Given the description of an element on the screen output the (x, y) to click on. 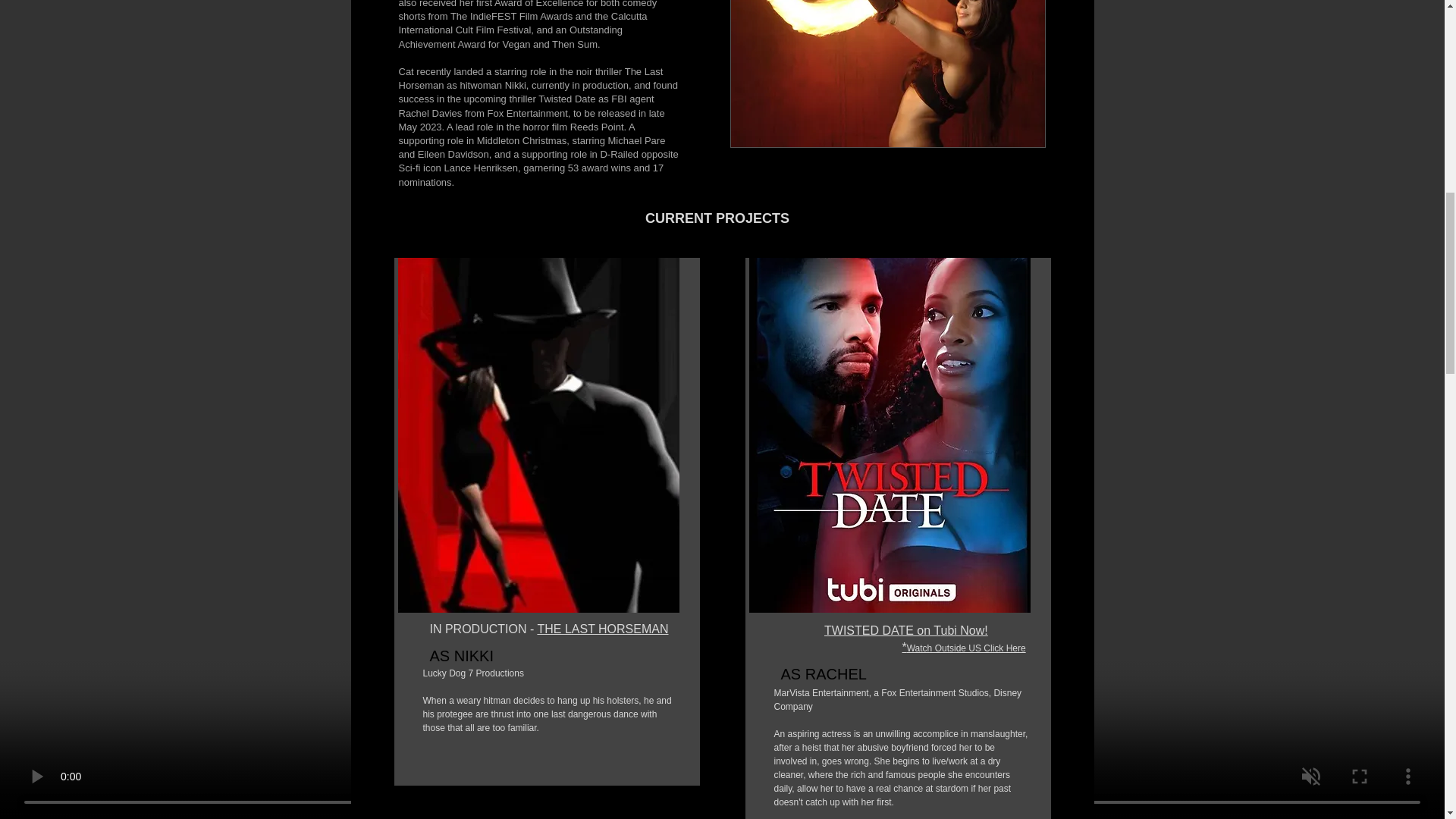
MarVista Entertainment (820, 692)
TWISTED DATE on Tubi Now! (906, 630)
THE LAST HORSEMAN (602, 628)
